Given the description of an element on the screen output the (x, y) to click on. 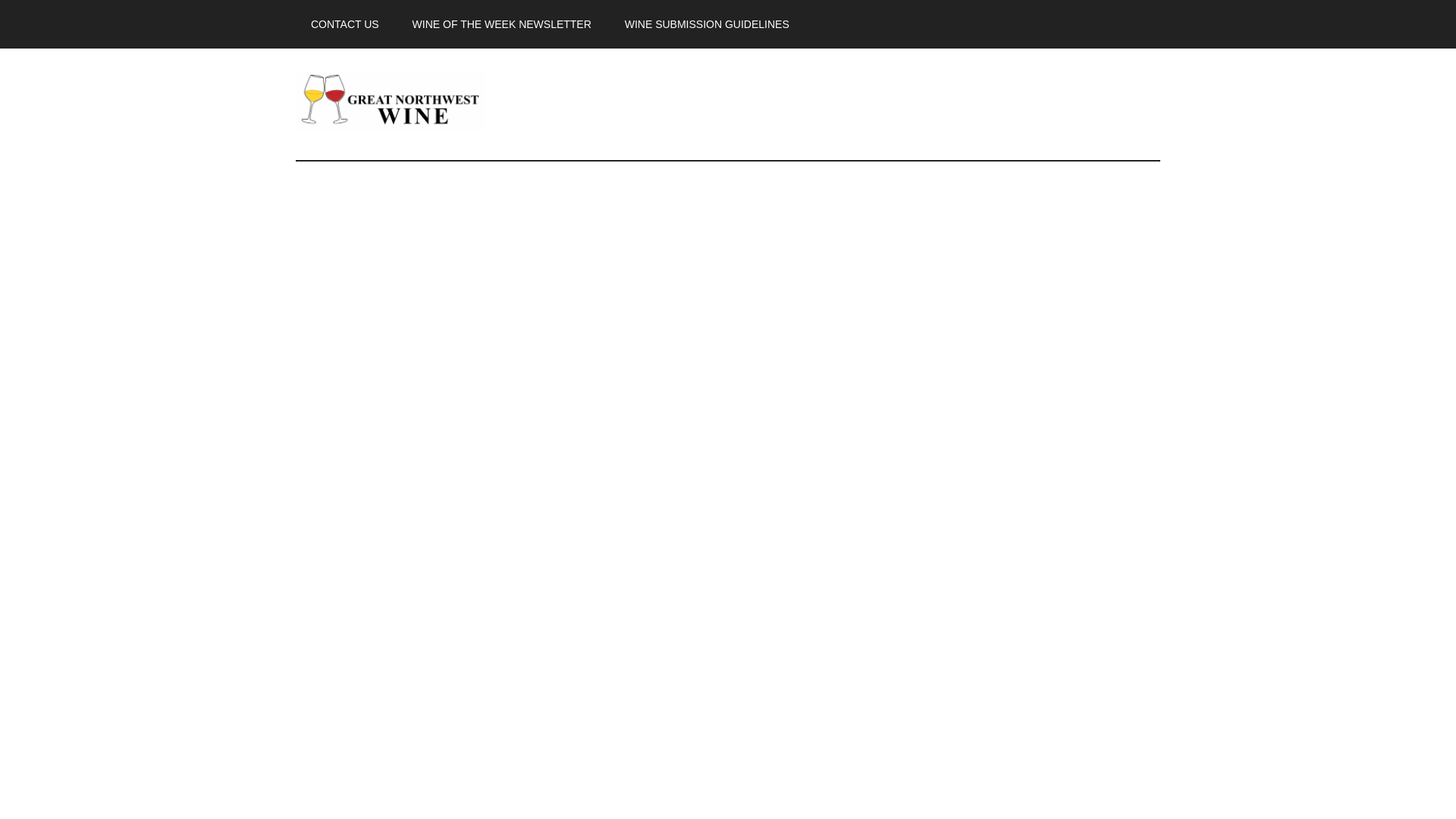
WINE SUBMISSION GUIDELINES (707, 24)
WINE OF THE WEEK NEWSLETTER (502, 24)
CONTACT US (344, 24)
